Given the description of an element on the screen output the (x, y) to click on. 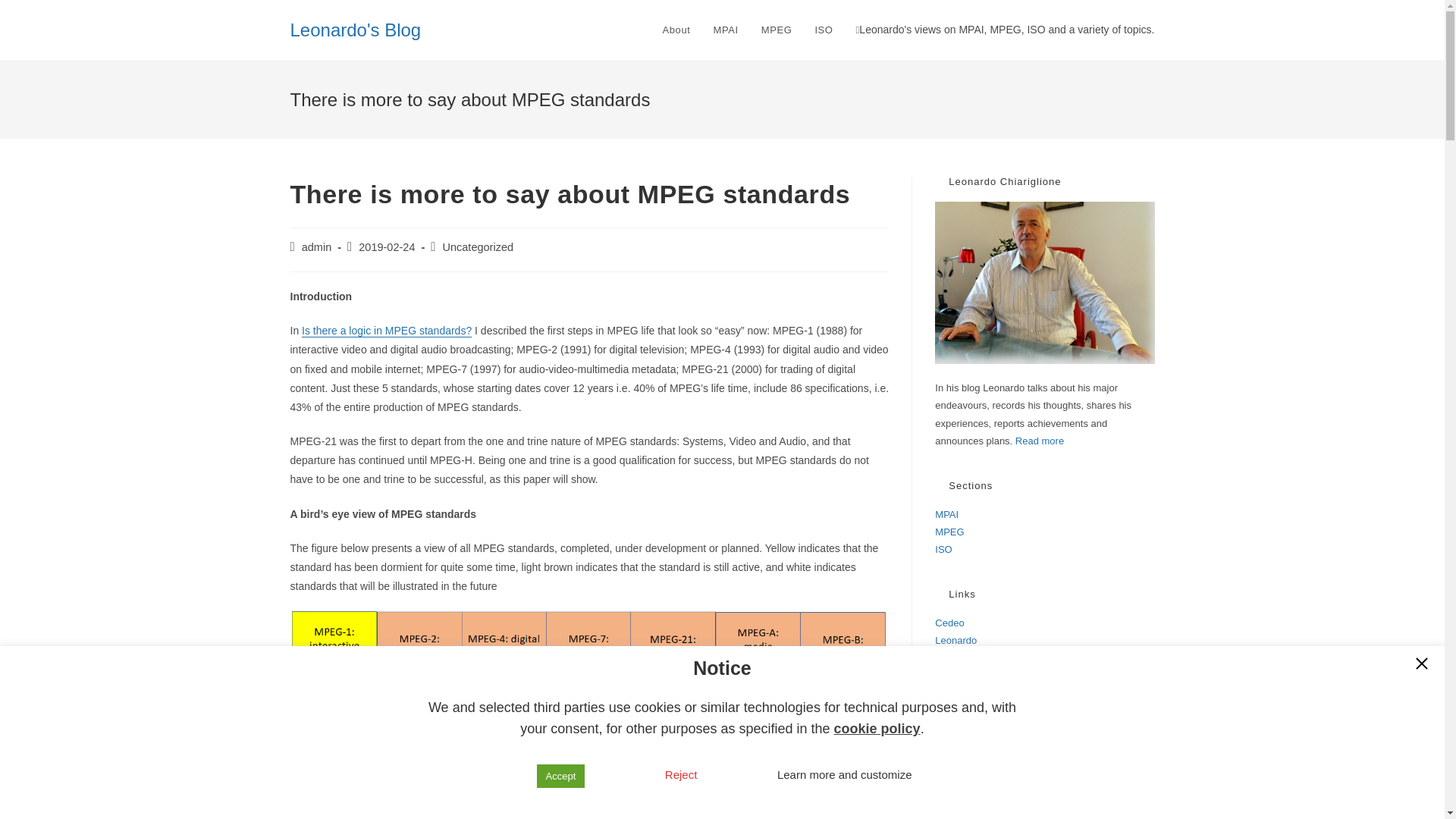
MPEG (990, 675)
Cedeo (948, 622)
ISO (943, 549)
Posts by admin (316, 246)
MPAI (946, 514)
RTMB (980, 693)
Is there a logic in MPEG standards? (386, 330)
admin (316, 246)
MPAI (946, 657)
Uncategorized (477, 246)
